Given the description of an element on the screen output the (x, y) to click on. 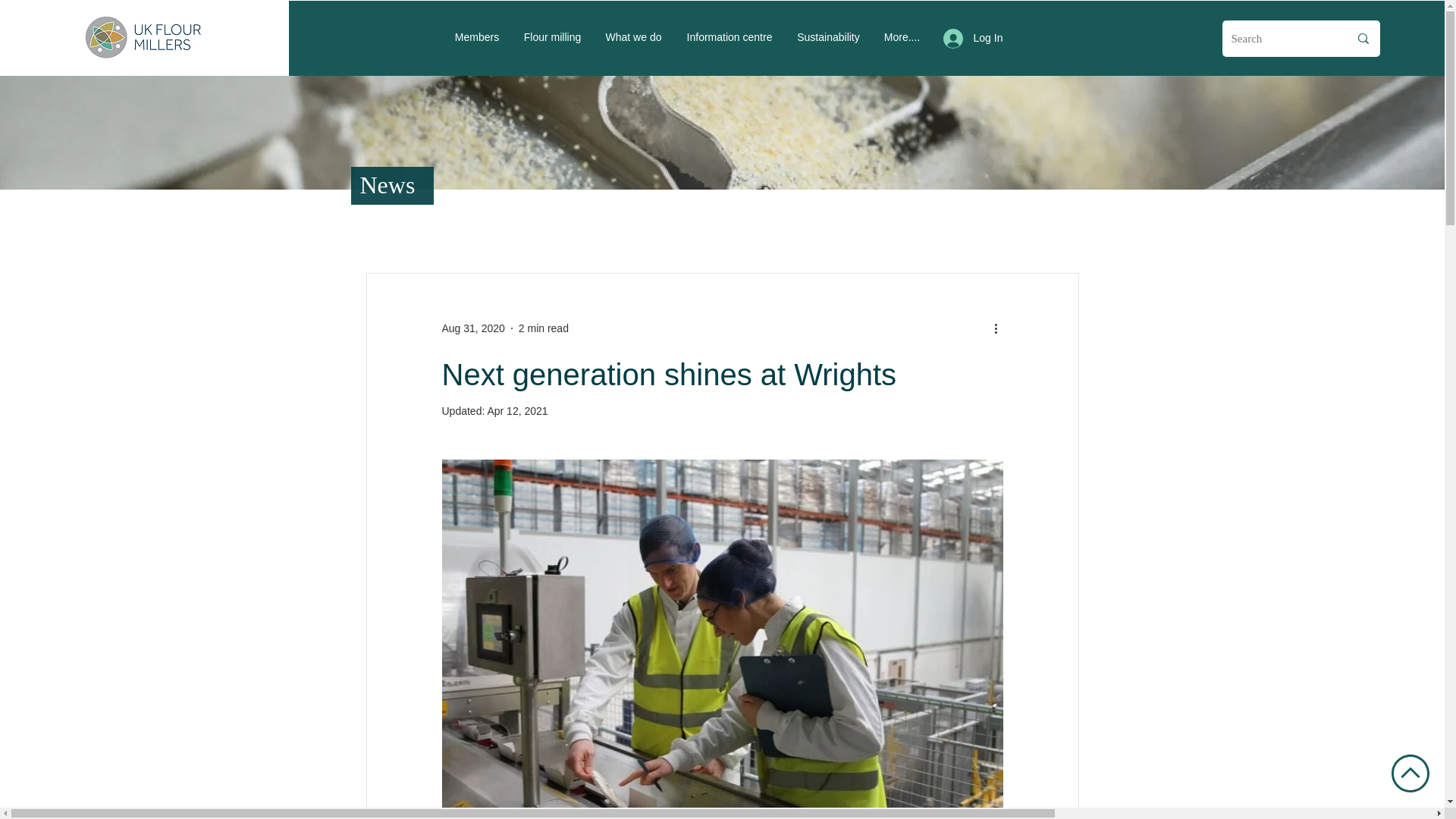
Information centre (728, 36)
Apr 12, 2021 (516, 410)
Flour milling (551, 36)
2 min read (543, 327)
What we do (632, 36)
Aug 31, 2020 (472, 327)
